Given the description of an element on the screen output the (x, y) to click on. 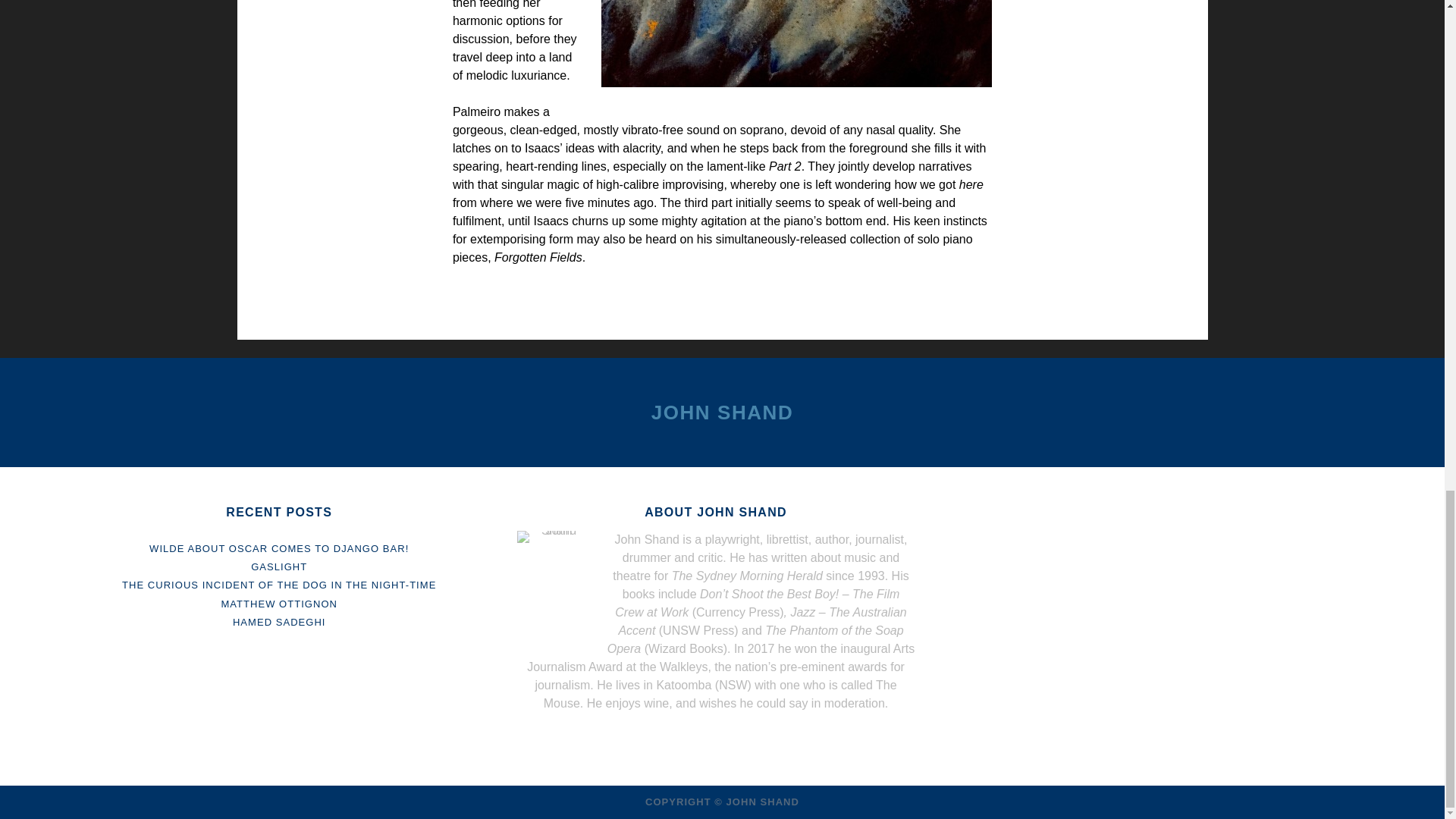
MATTHEW OTTIGNON (279, 603)
GASLIGHT (278, 566)
WILDE ABOUT OSCAR COMES TO DJANGO BAR! (279, 548)
HAMED SADEGHI (279, 622)
THE CURIOUS INCIDENT OF THE DOG IN THE NIGHT-TIME (278, 584)
JOHN SHAND (721, 412)
